Given the description of an element on the screen output the (x, y) to click on. 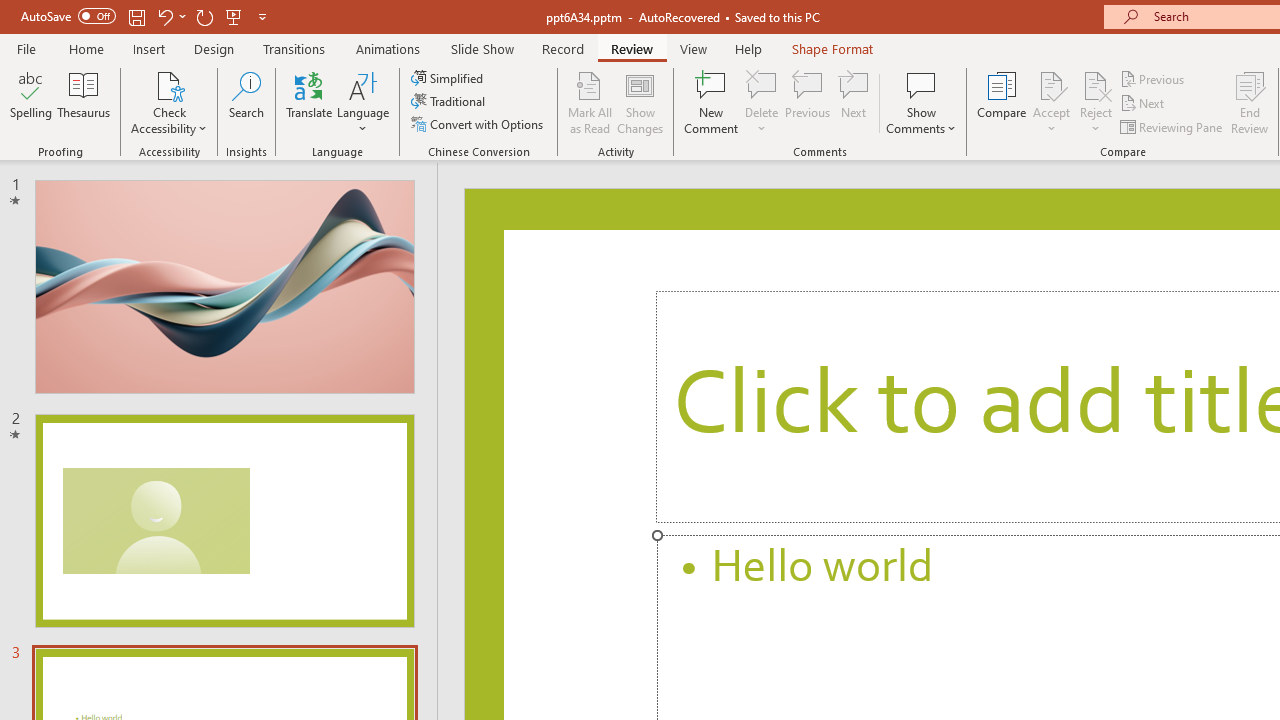
Compare (1002, 102)
Check Accessibility (169, 84)
